Given the description of an element on the screen output the (x, y) to click on. 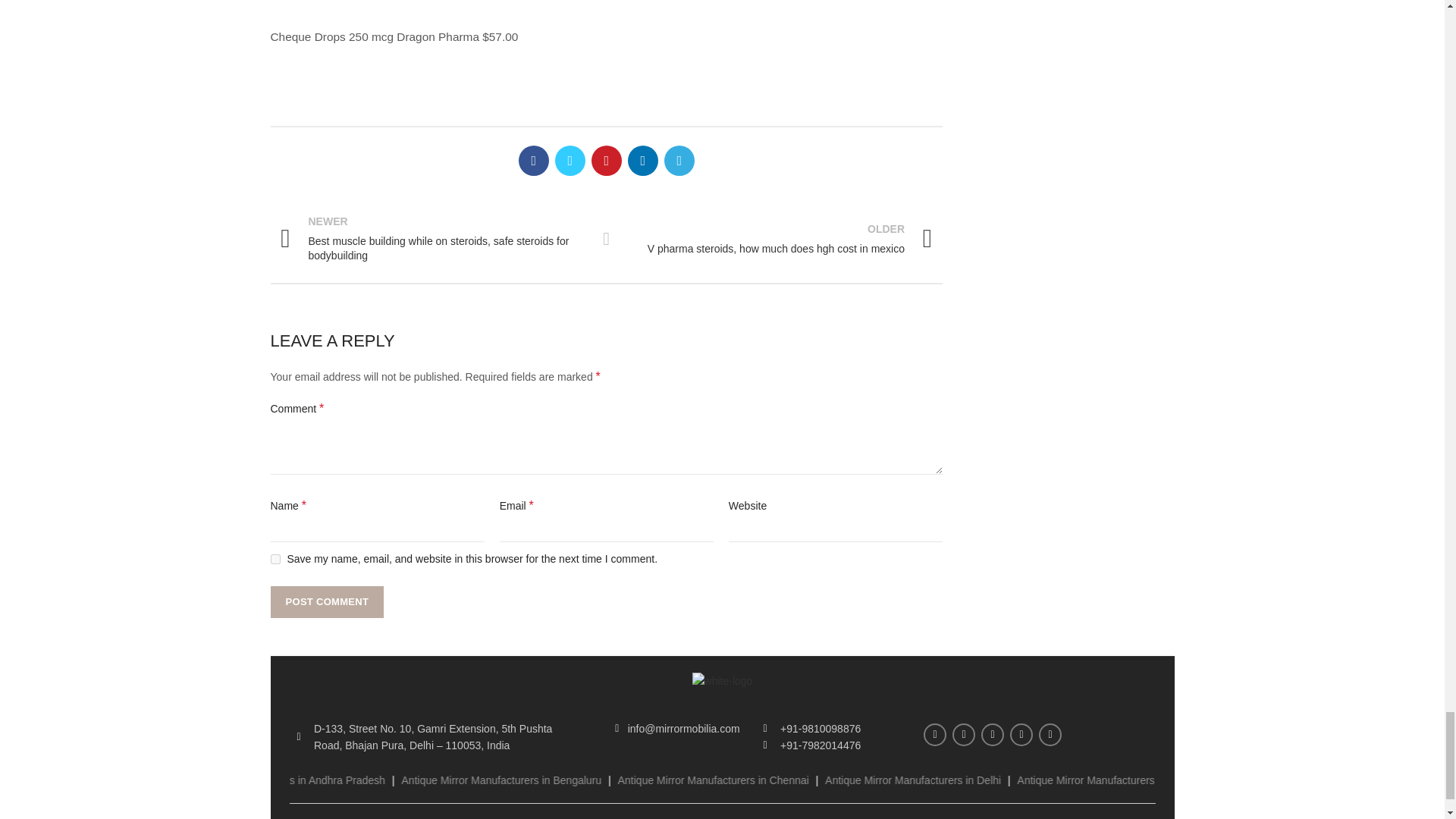
white-logo (722, 680)
yes (274, 559)
Post Comment (326, 602)
